Given the description of an element on the screen output the (x, y) to click on. 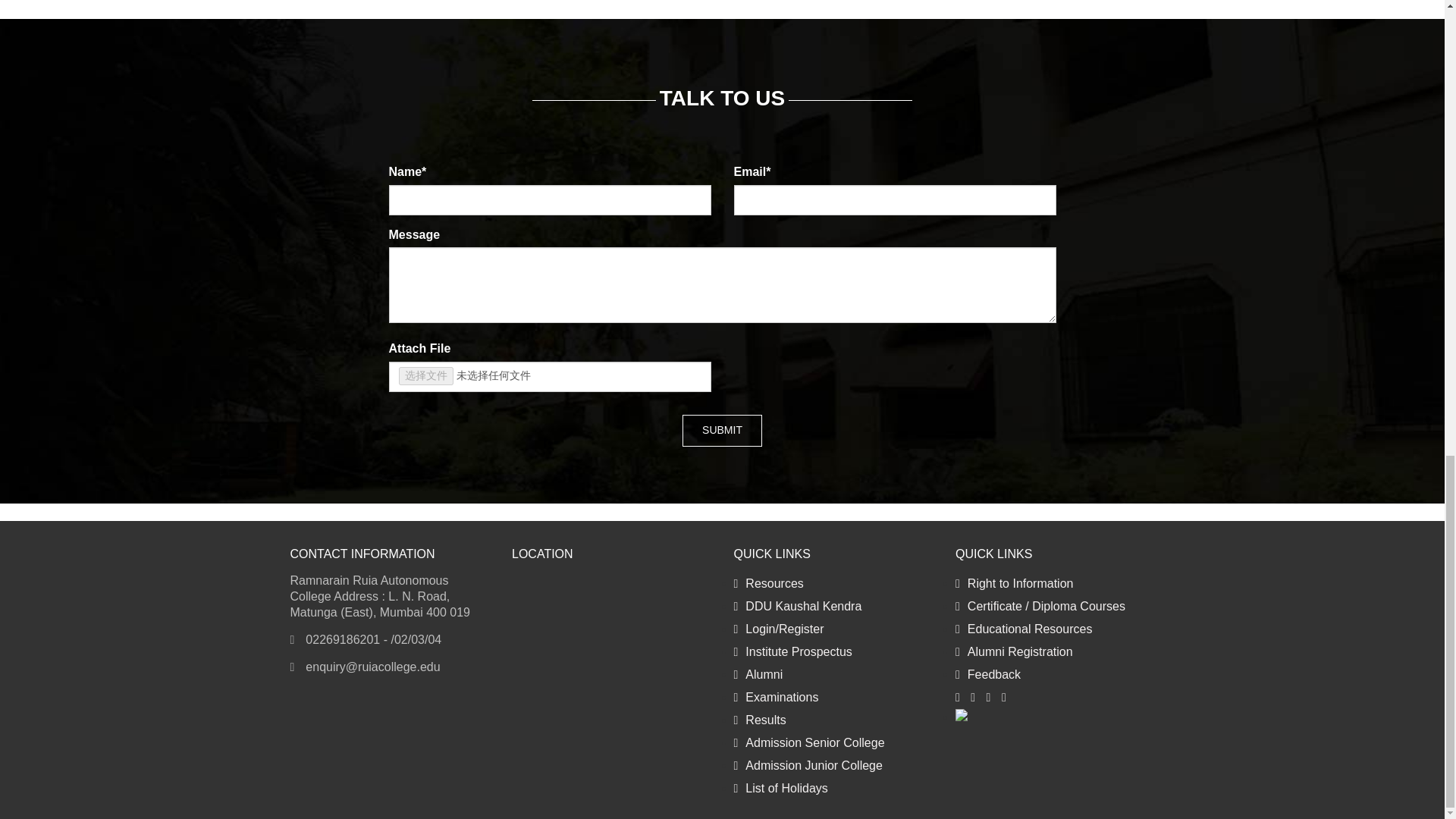
Submit (721, 430)
